Given the description of an element on the screen output the (x, y) to click on. 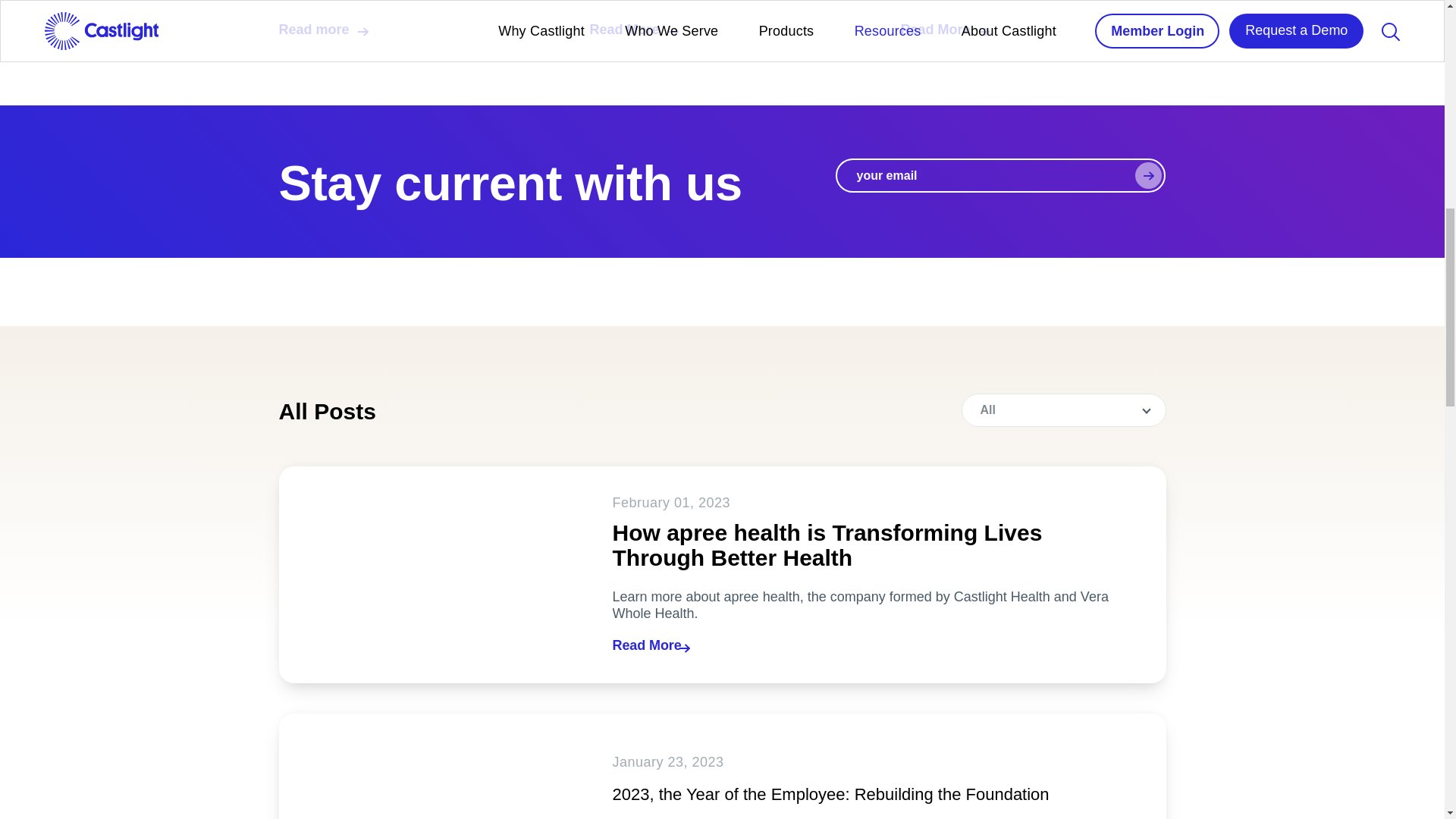
Subscribe (1148, 175)
